Given the description of an element on the screen output the (x, y) to click on. 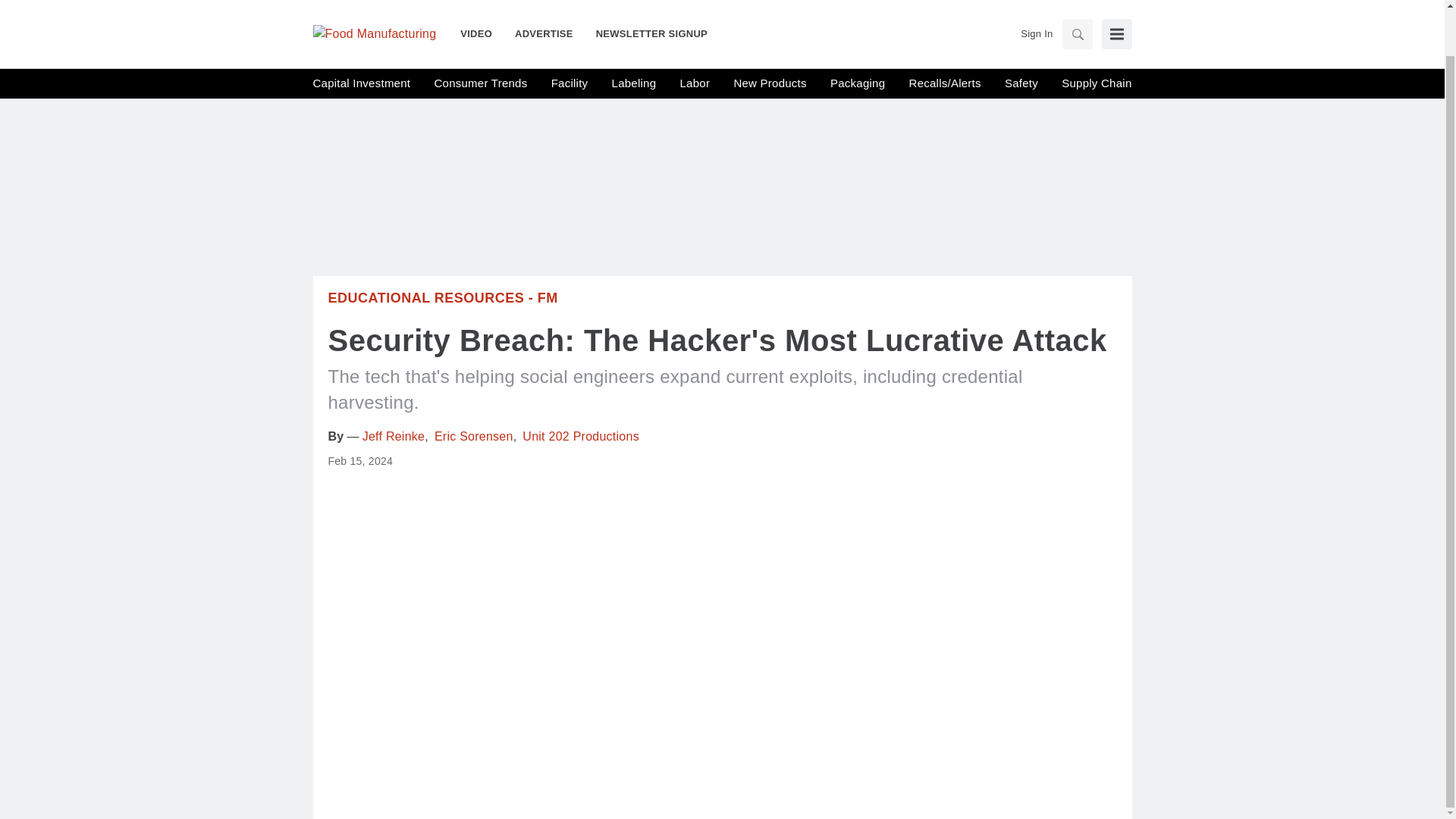
Facility (569, 35)
Labor (694, 35)
New Products (769, 35)
Capital Investment (361, 35)
Consumer Trends (480, 35)
Labeling (633, 35)
Supply Chain (1096, 35)
Safety (1021, 35)
Educational Resources - FM (442, 297)
Packaging (857, 35)
